Given the description of an element on the screen output the (x, y) to click on. 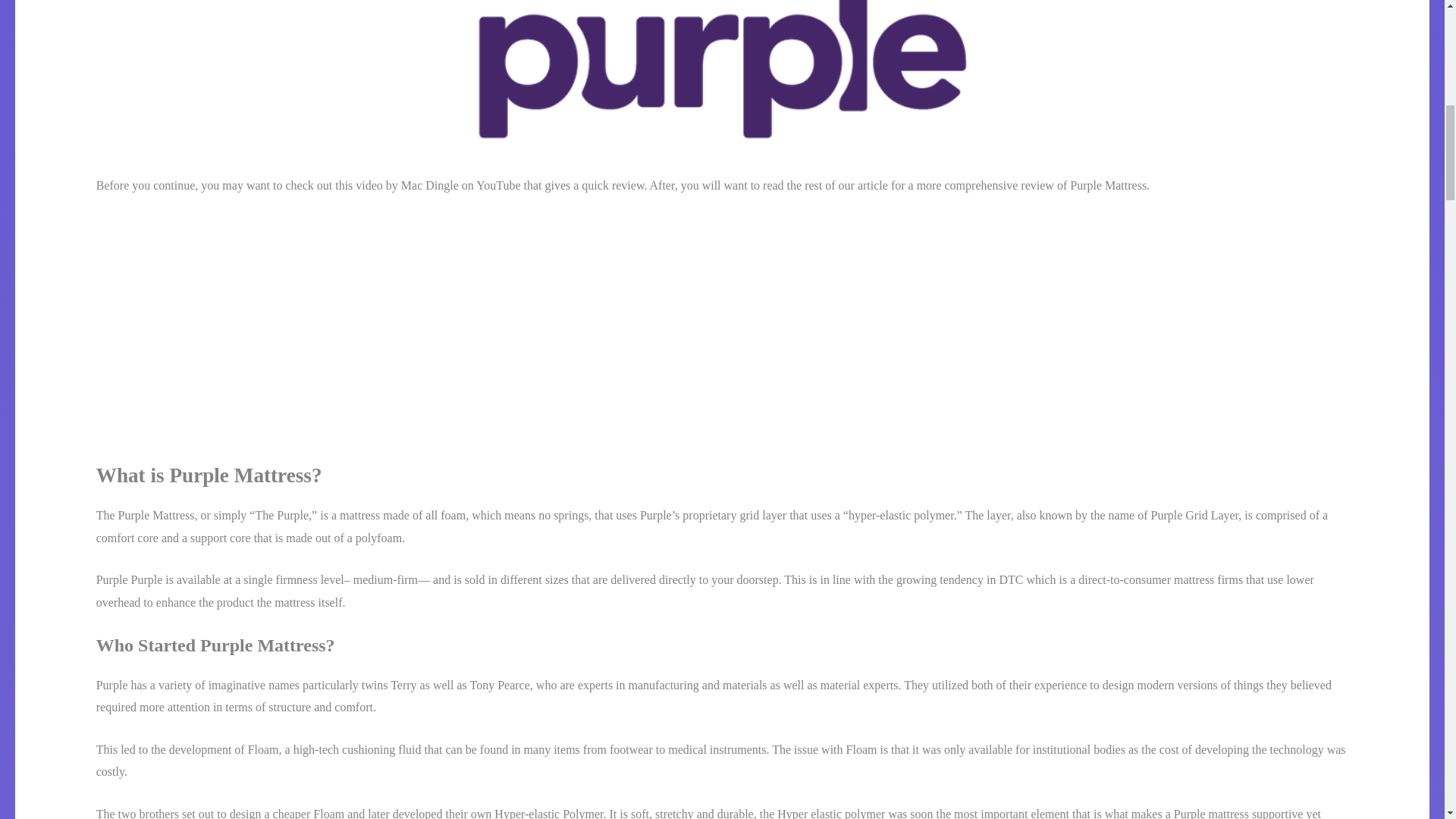
YouTube video player (308, 315)
